Given the description of an element on the screen output the (x, y) to click on. 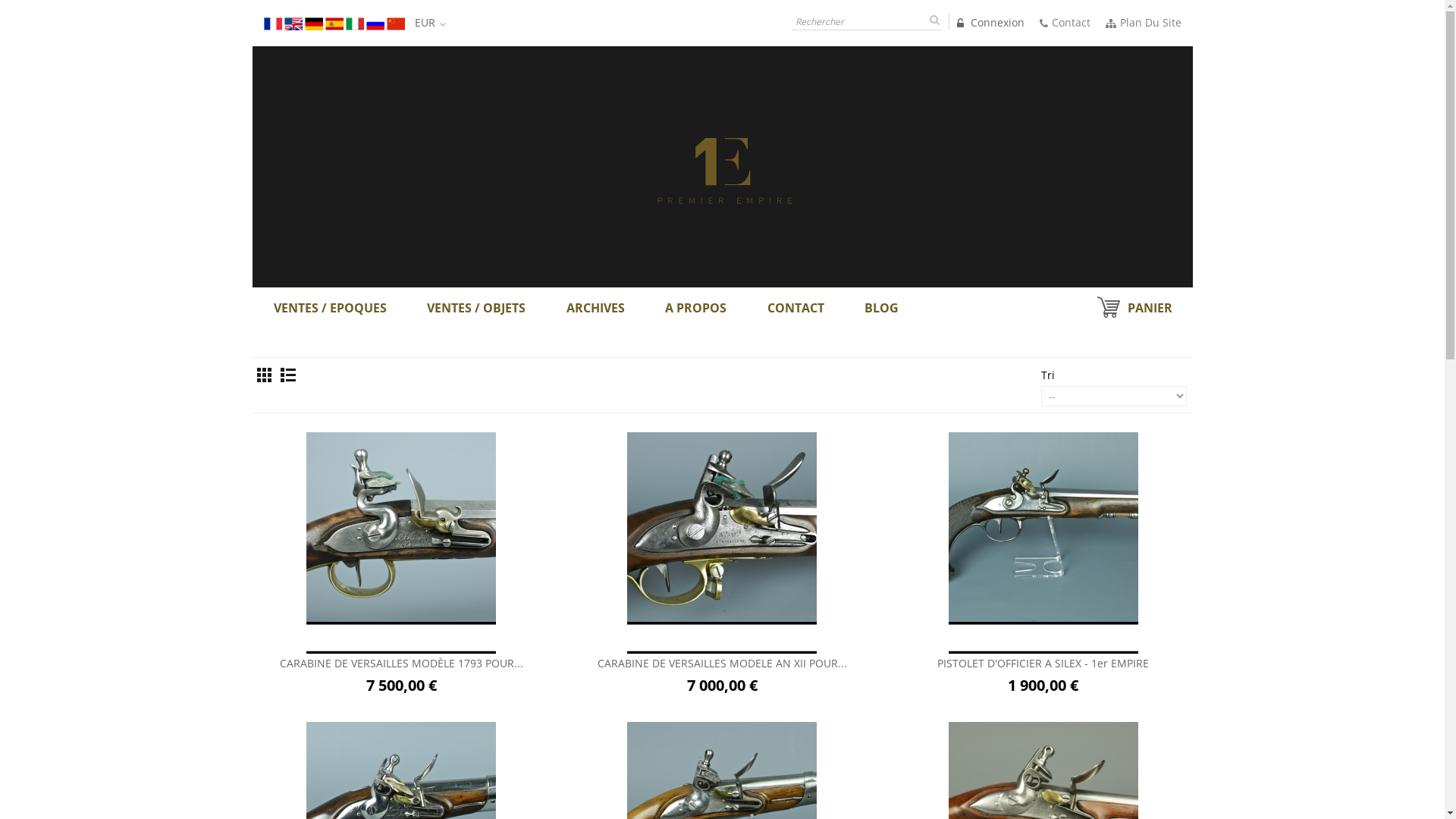
VENTES / OBJETS Element type: text (475, 307)
PISTOLET D'OFFICIER A SILEX - 1ER EMPIRE Element type: hover (1043, 526)
BLOG Element type: text (881, 307)
ARCHIVES Element type: text (595, 307)
PISTOLET D'OFFICIER A SILEX - 1er EMPIRE Element type: hover (1043, 526)
PANIER Element type: text (1133, 307)
CONTACT Element type: text (795, 307)
Liste Element type: hover (287, 374)
CARABINE DE VERSAILLES MODELE AN XII POUR... Element type: text (722, 663)
VENTES / EPOQUES Element type: text (337, 307)
1er empire Element type: hover (721, 165)
Contact Element type: text (1063, 22)
A PROPOS Element type: text (695, 307)
Grille Element type: hover (263, 374)
PISTOLET D'OFFICIER A SILEX - 1er EMPIRE Element type: text (1043, 663)
Connexion Element type: text (990, 23)
Plan Du Site Element type: text (1143, 22)
